Given the description of an element on the screen output the (x, y) to click on. 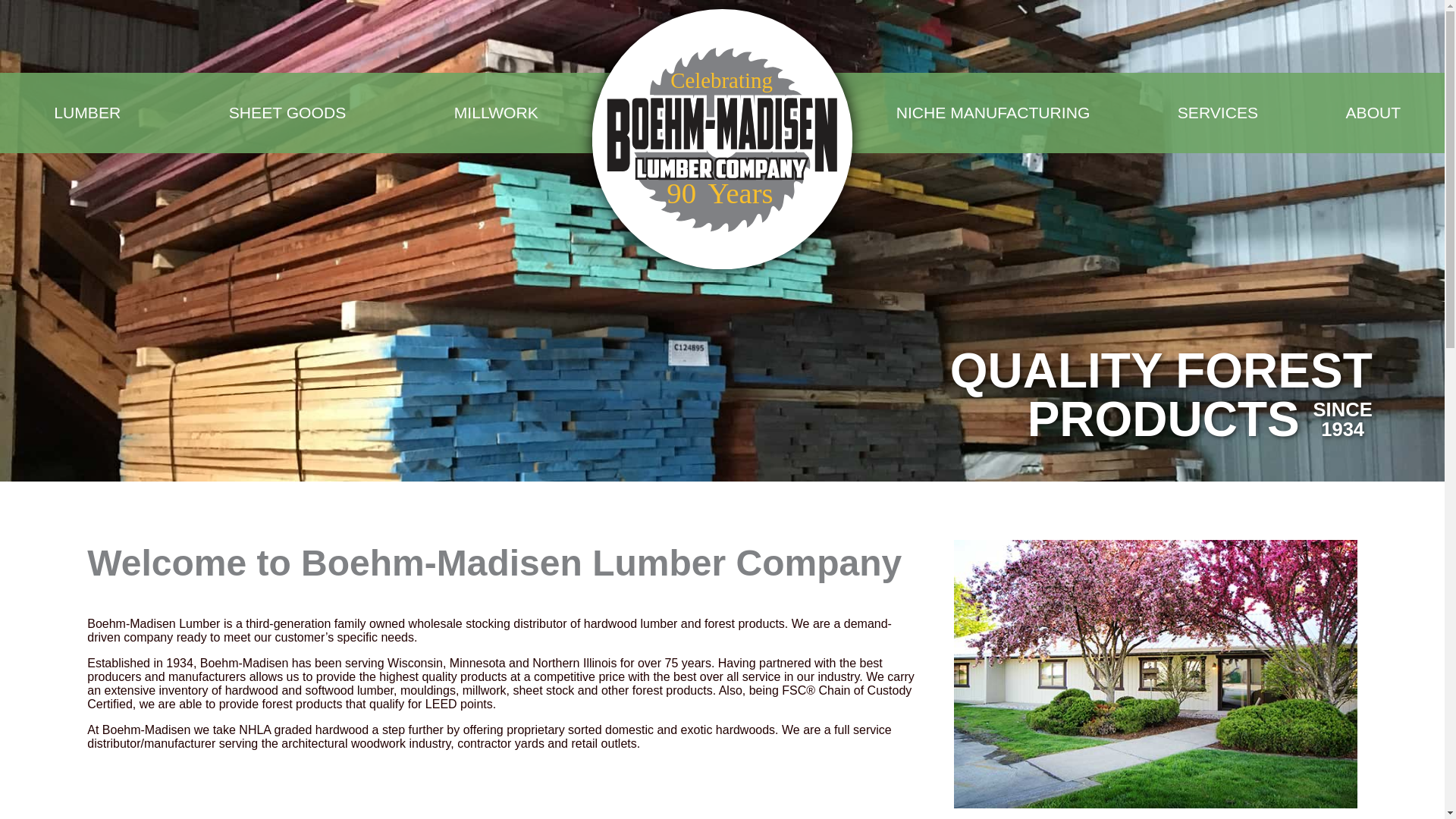
LUMBER (87, 112)
NICHE MANUFACTURING (992, 112)
SERVICES (1217, 112)
SHEET GOODS (287, 112)
Boehm-Madisen Lumber Company (721, 112)
MILLWORK (496, 112)
